Given the description of an element on the screen output the (x, y) to click on. 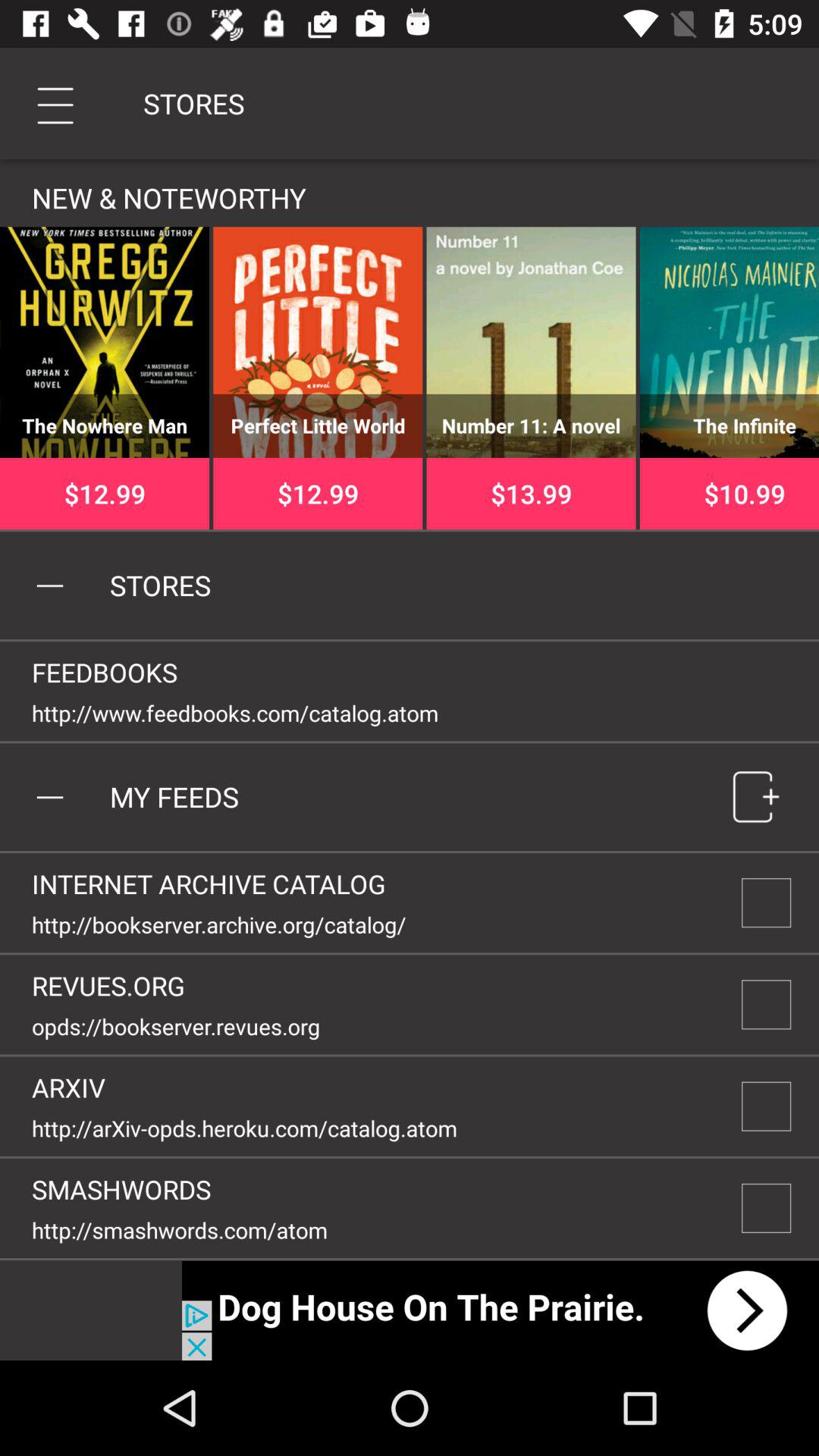
advertisement click option (500, 1310)
